Given the description of an element on the screen output the (x, y) to click on. 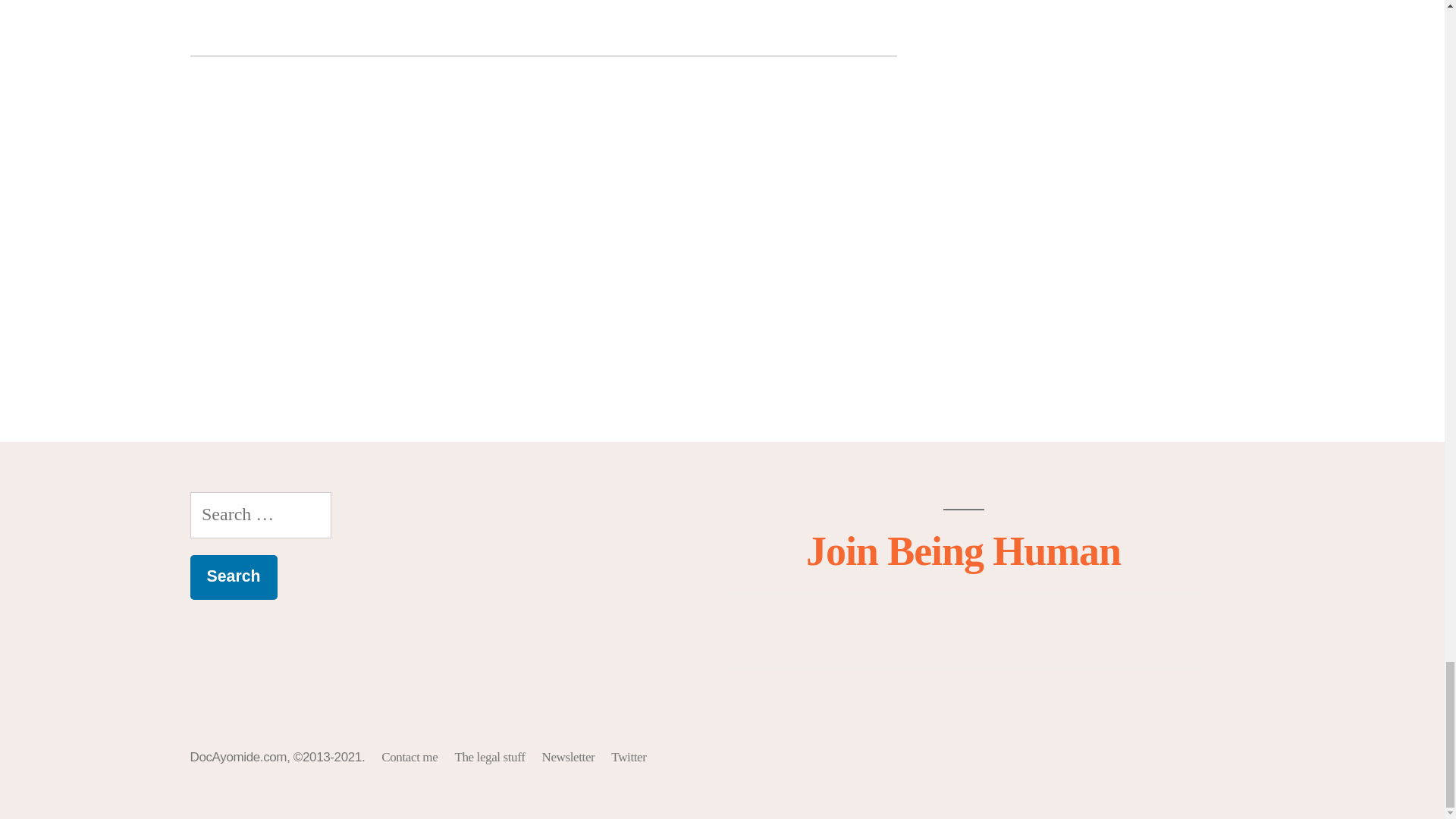
Search (232, 577)
Search (232, 577)
Search (232, 577)
DocAyomide.com (237, 757)
